Given the description of an element on the screen output the (x, y) to click on. 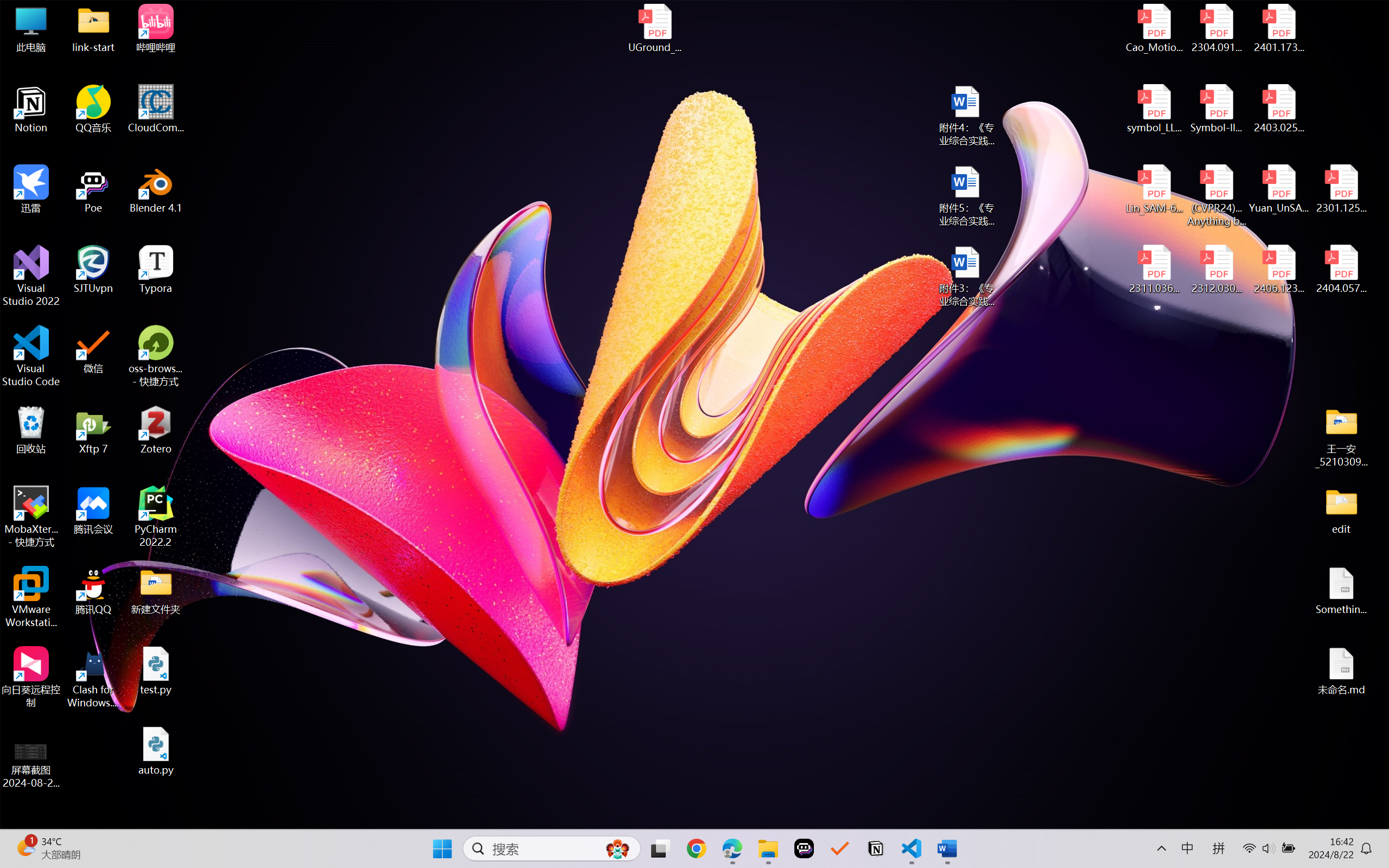
2301.12597v3.pdf (1340, 189)
auto.py (156, 751)
Visual Studio Code (31, 355)
CloudCompare (156, 109)
2404.05719v1.pdf (1340, 269)
Symbol-llm-v2.pdf (1216, 109)
VMware Workstation Pro (31, 597)
